Given the description of an element on the screen output the (x, y) to click on. 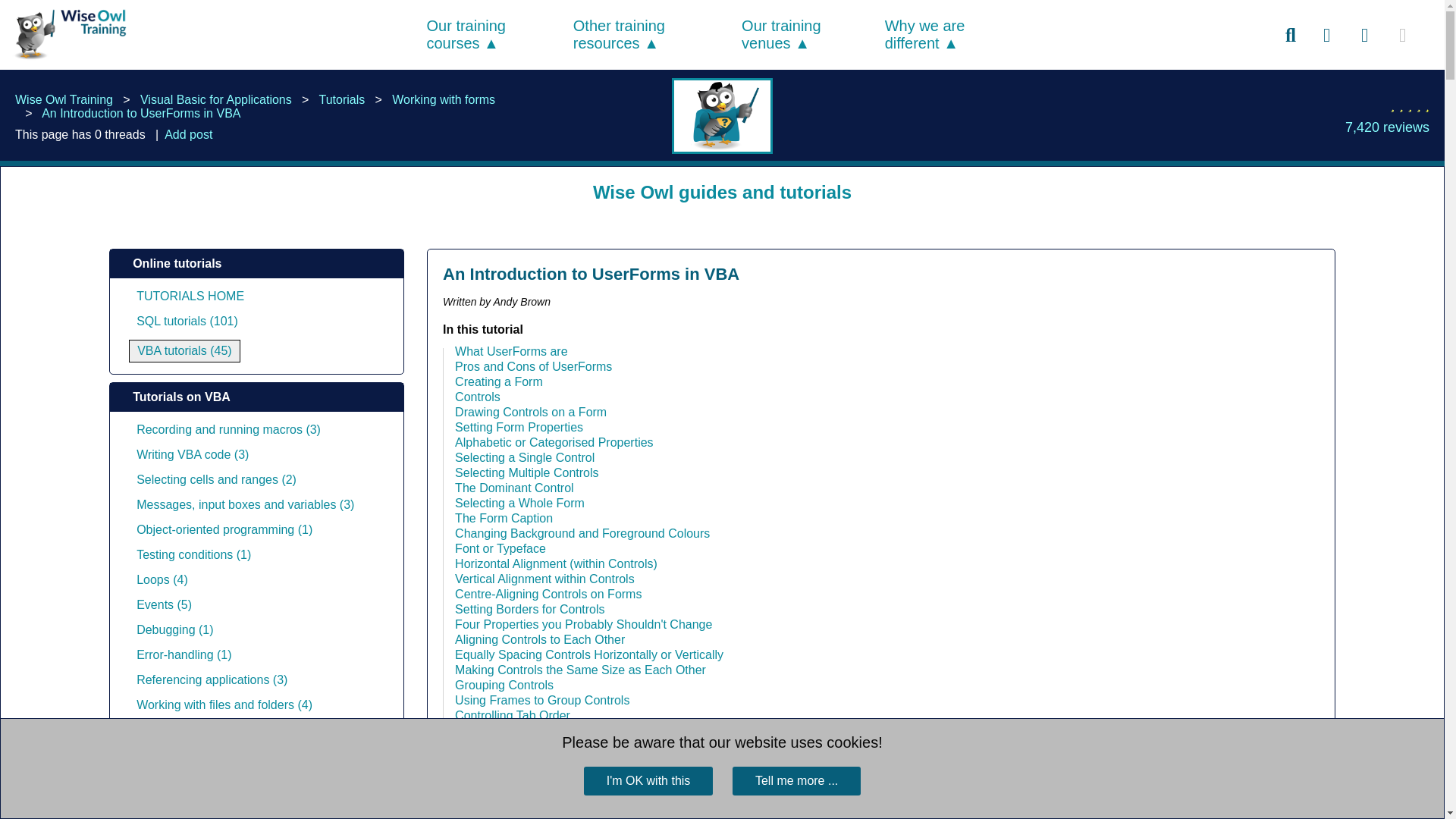
Wise Owl Training (67, 34)
Wise Owl Training (65, 60)
Our training courses (465, 34)
